Given the description of an element on the screen output the (x, y) to click on. 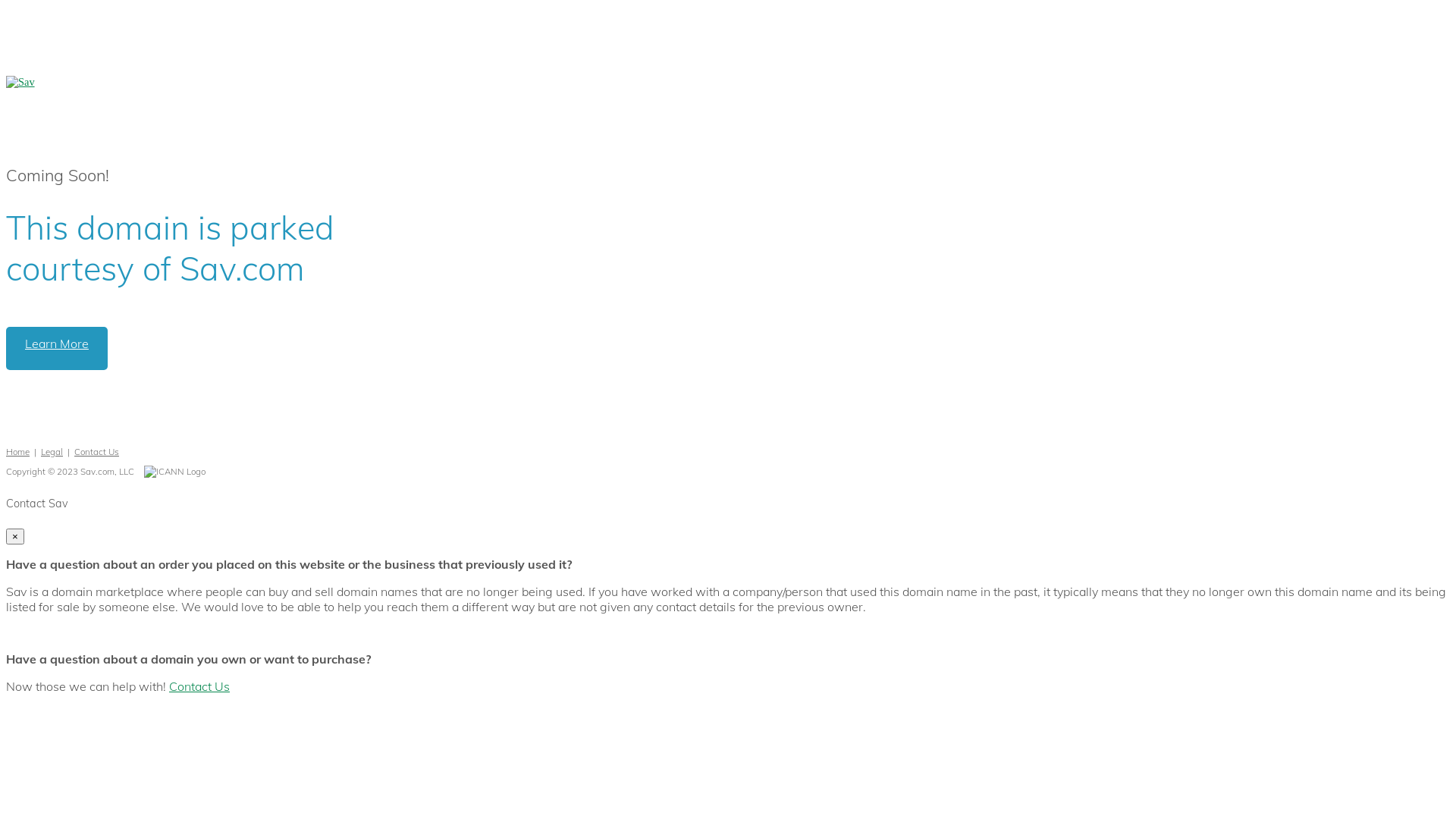
Home Element type: text (17, 451)
Contact Us Element type: text (199, 685)
Contact Us Element type: text (96, 451)
Learn More Element type: text (56, 348)
Legal Element type: text (51, 451)
